Given the description of an element on the screen output the (x, y) to click on. 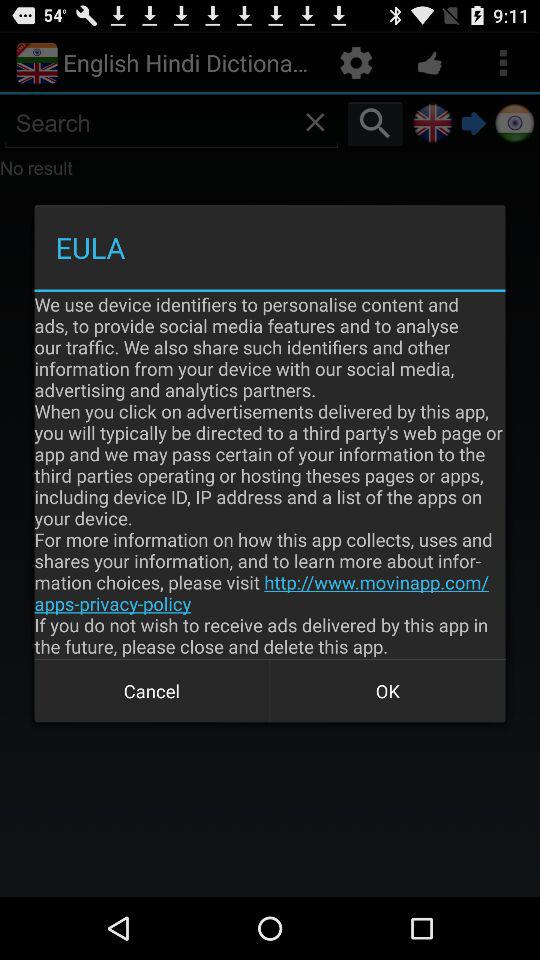
press the item to the left of ok button (151, 690)
